Given the description of an element on the screen output the (x, y) to click on. 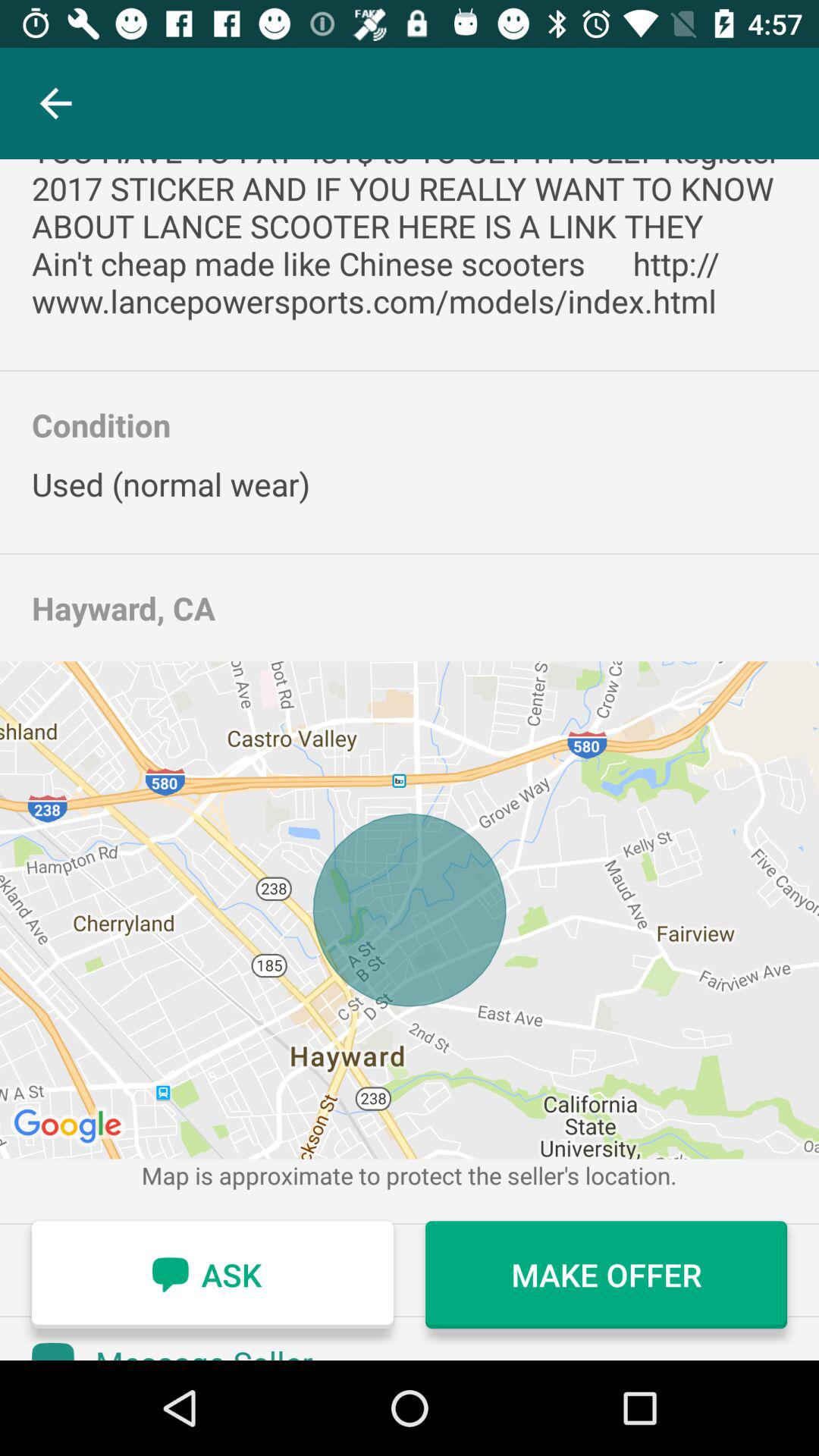
choose item to the right of ask item (606, 1274)
